Given the description of an element on the screen output the (x, y) to click on. 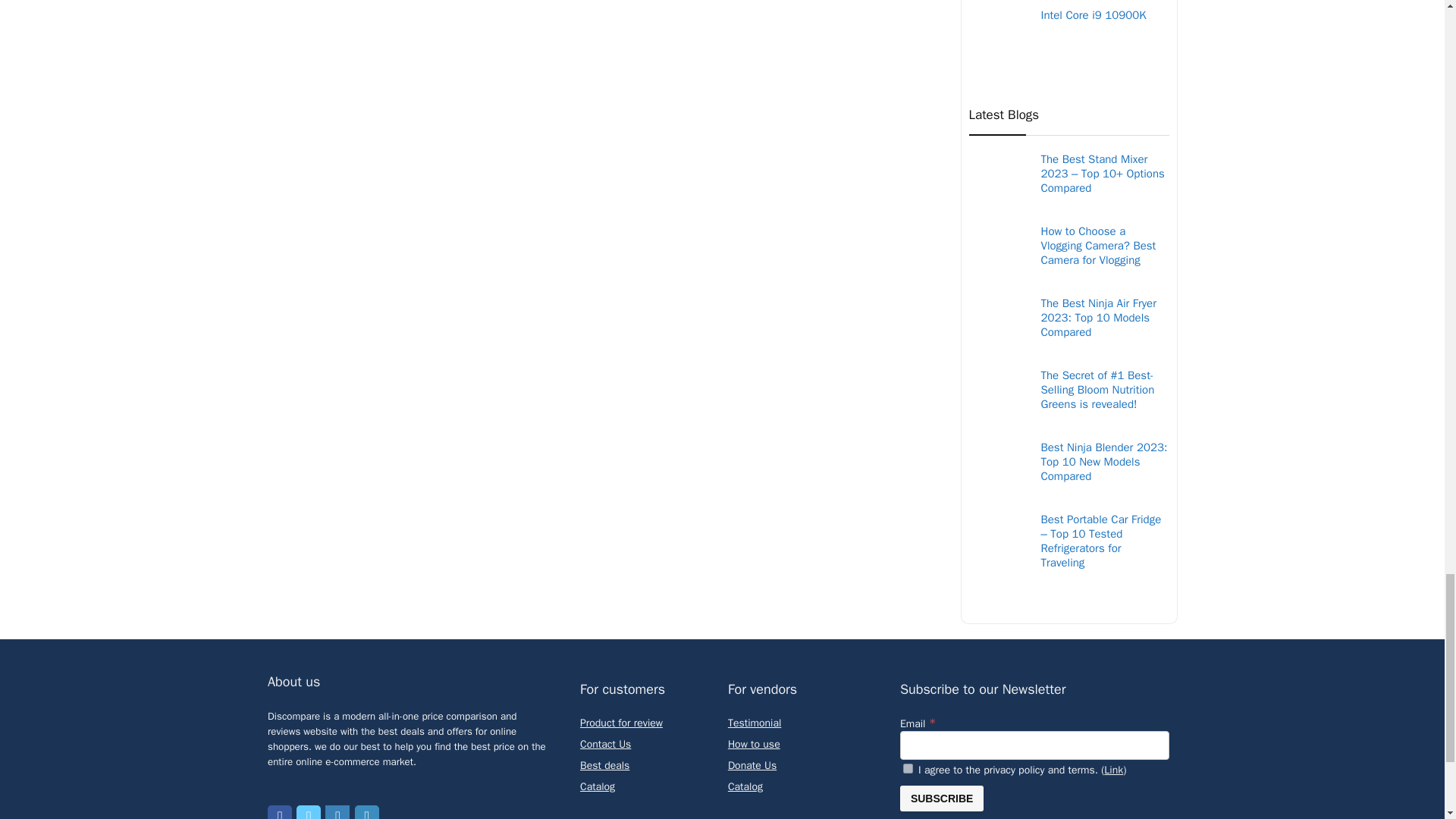
1 (907, 768)
Subscribe (941, 798)
